Given the description of an element on the screen output the (x, y) to click on. 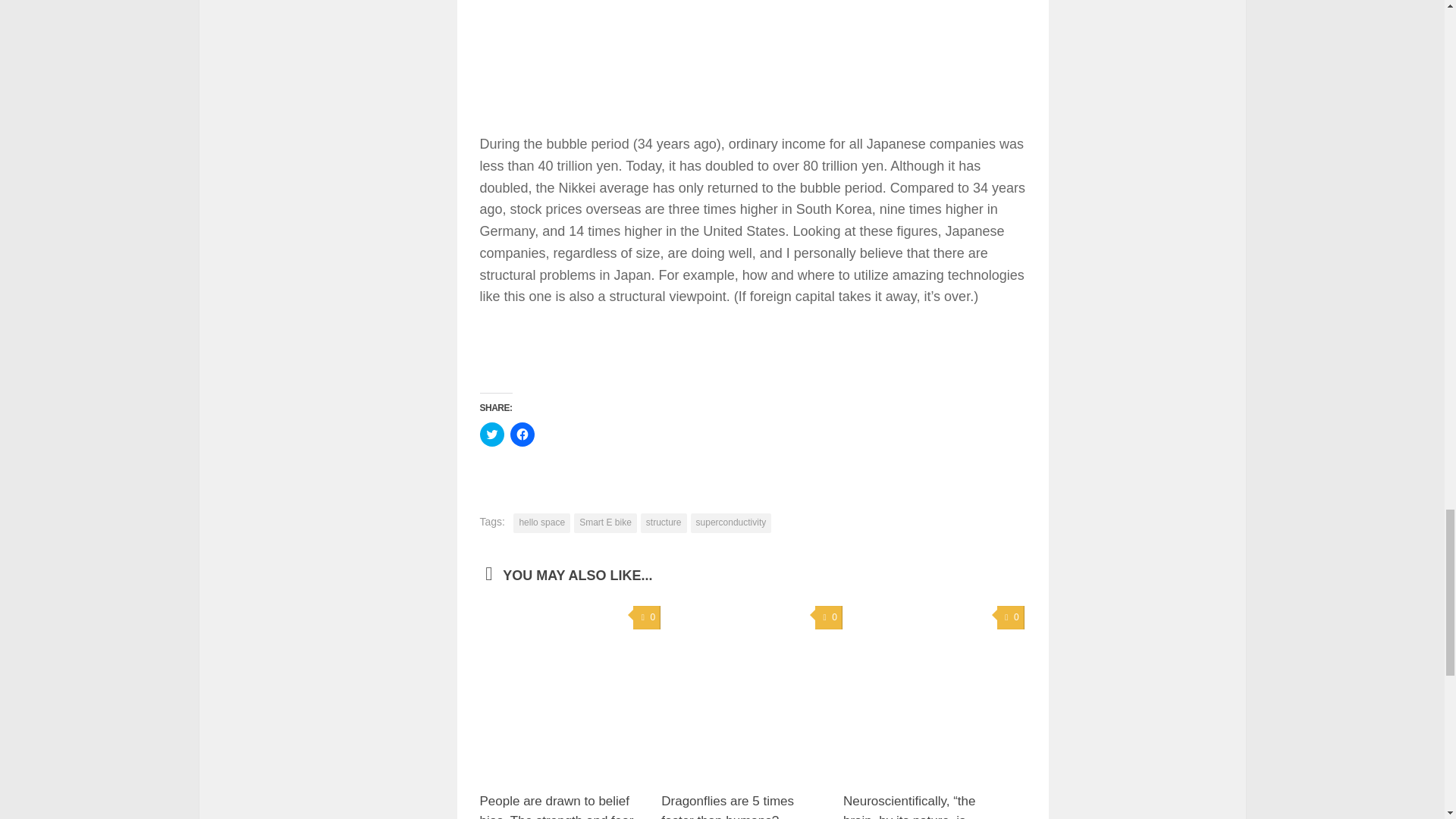
Smart E bike (605, 523)
structure (663, 523)
hello space (541, 523)
YouTube video player (592, 56)
Click to share on Twitter (491, 434)
Click to share on Facebook (521, 434)
